Given the description of an element on the screen output the (x, y) to click on. 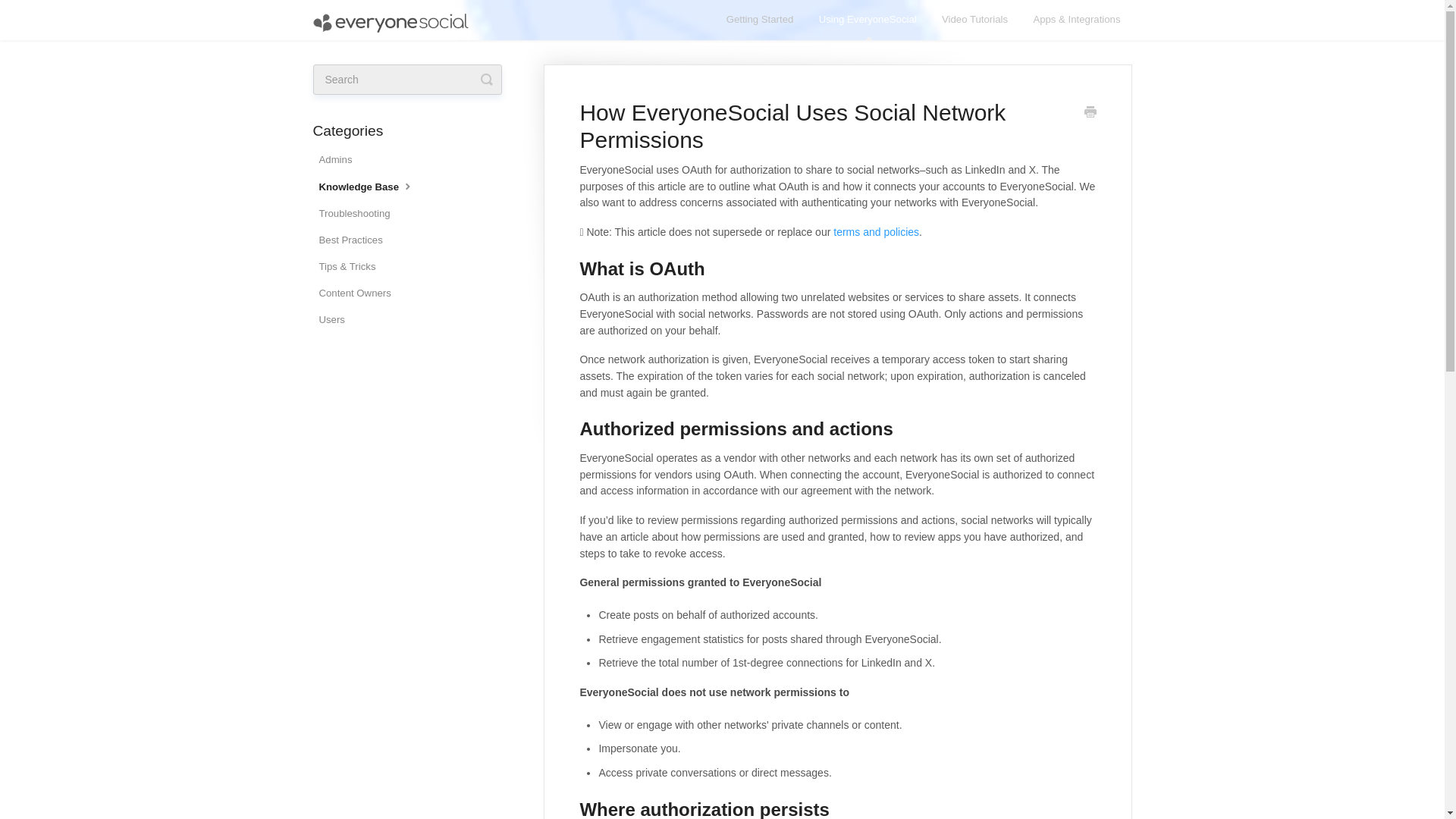
terms and policies (875, 232)
Getting Started (759, 20)
Video Tutorials (974, 20)
Admins (340, 159)
Users (336, 319)
search-query (406, 79)
Knowledge Base (372, 186)
Best Practices (355, 240)
Troubleshooting (359, 213)
Content Owners (359, 293)
